Given the description of an element on the screen output the (x, y) to click on. 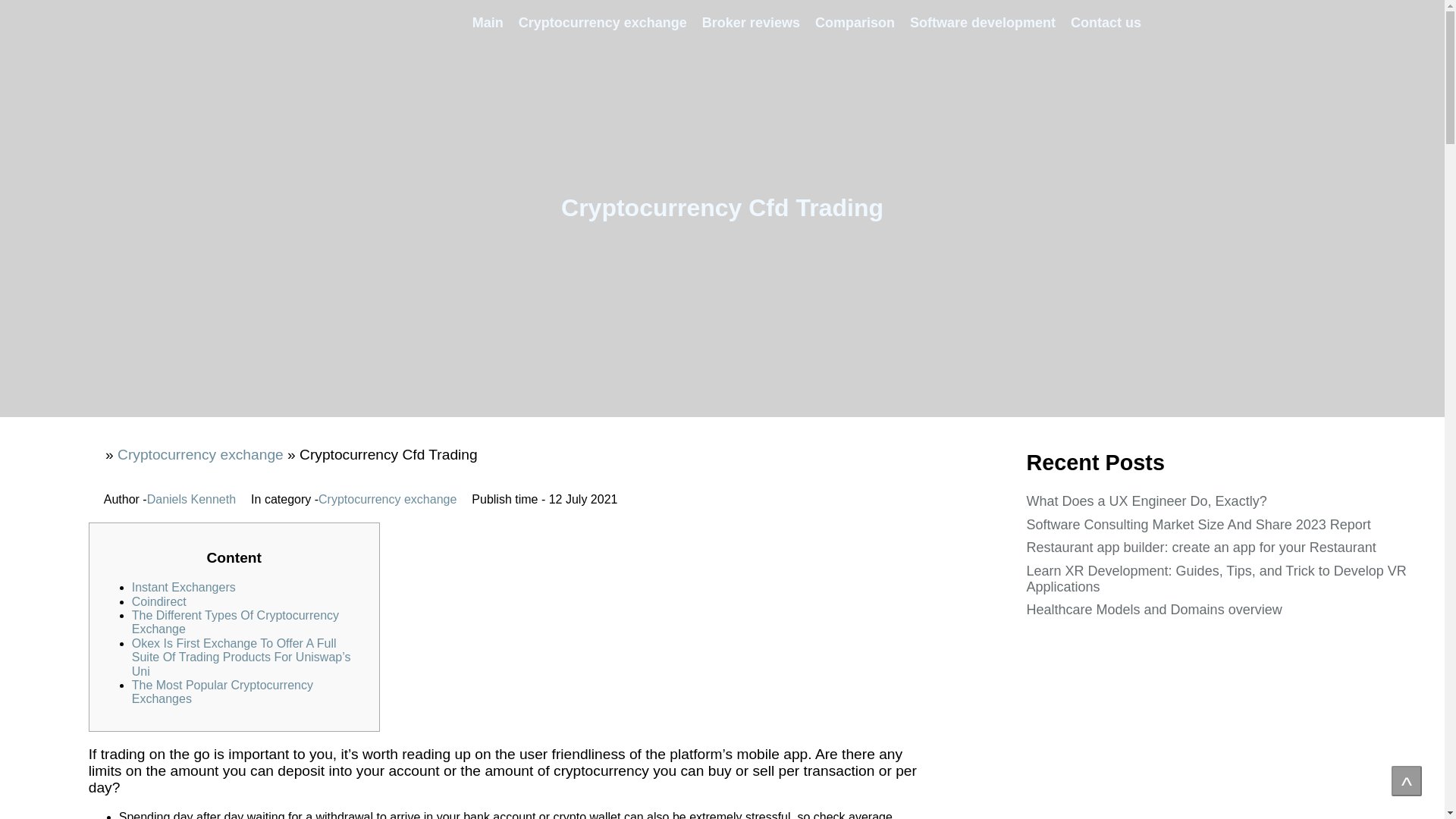
Contact us (1105, 22)
Broker reviews (751, 22)
Comparison (855, 22)
Cryptocurrency exchange (200, 454)
Cryptocurrency exchange (602, 22)
Cryptocurrency exchange (387, 499)
Main (487, 22)
Software development (982, 22)
The Different Types Of Cryptocurrency Exchange (235, 622)
The Most Popular Cryptocurrency Exchanges (222, 691)
Instant Exchangers (183, 586)
Coindirect (159, 601)
Go to top (1406, 780)
Daniels Kenneth (191, 499)
